Given the description of an element on the screen output the (x, y) to click on. 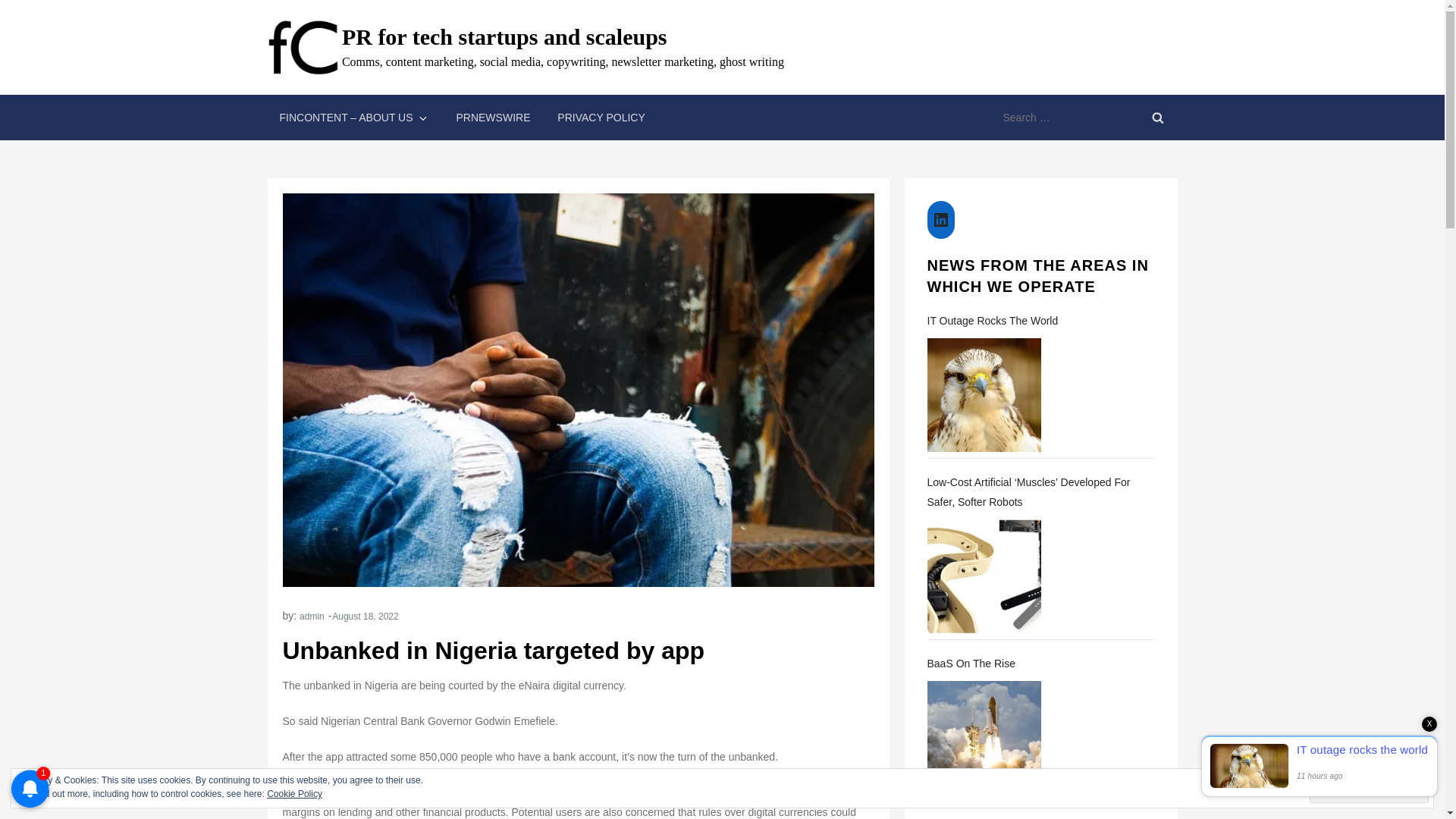
PR for tech startups and scaleups (504, 36)
PRNEWSWIRE (492, 117)
IT Outage Rocks The World (1040, 320)
BaaS On The Rise (1040, 663)
IT outage rocks the world (983, 395)
August 18, 2022 (364, 615)
BaaS on the rise (983, 737)
LinkedIn (939, 219)
PRIVACY POLICY (600, 117)
Close and accept (1368, 788)
admin (311, 615)
